Given the description of an element on the screen output the (x, y) to click on. 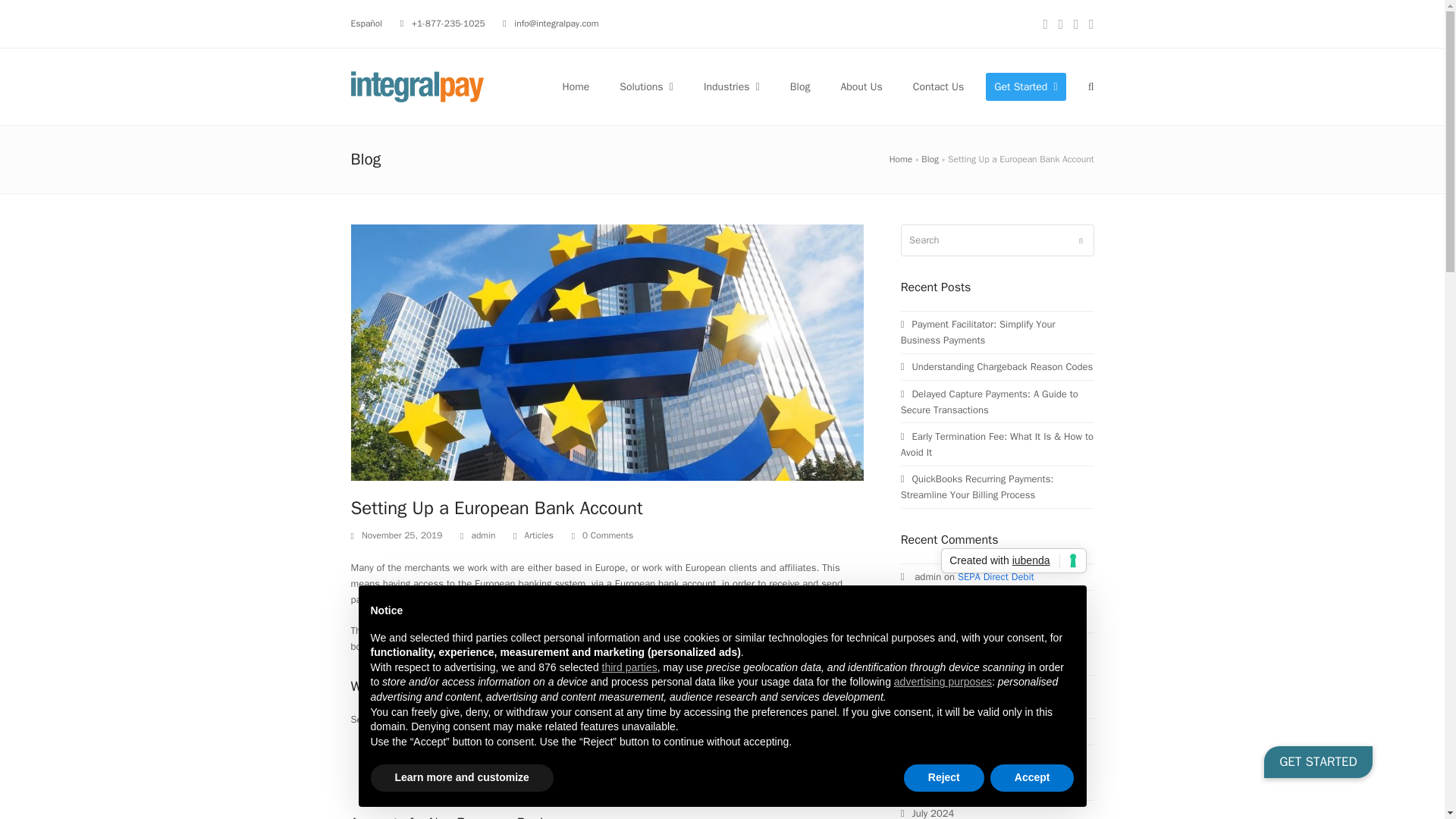
Solutions (646, 86)
iubenda - Cookie Policy and Cookie Compliance Management (1013, 560)
0 Comments (602, 535)
Home (574, 86)
Industries (732, 86)
